Given the description of an element on the screen output the (x, y) to click on. 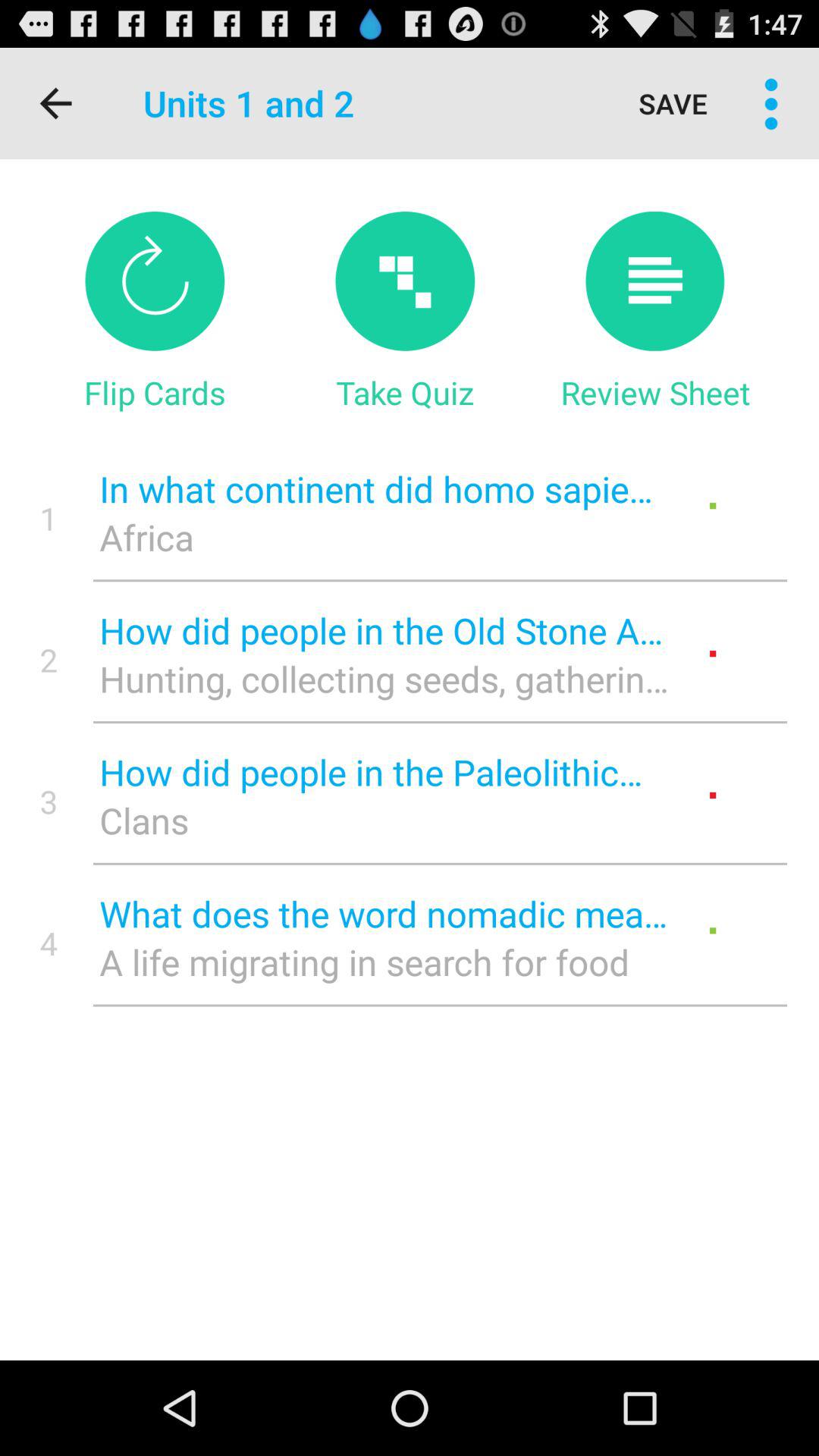
swipe until the in what continent item (384, 488)
